Given the description of an element on the screen output the (x, y) to click on. 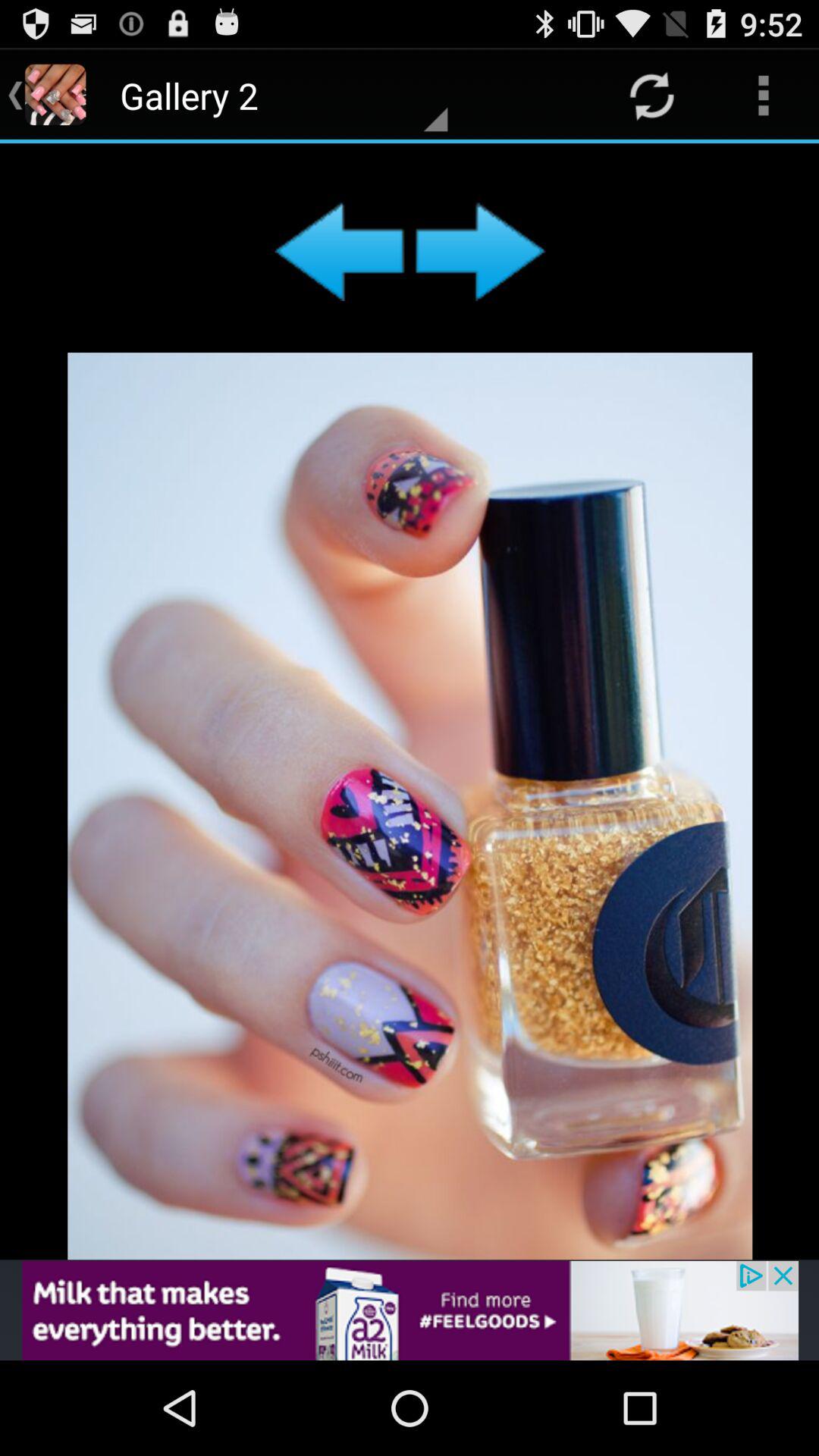
advertisement page (409, 1310)
